Given the description of an element on the screen output the (x, y) to click on. 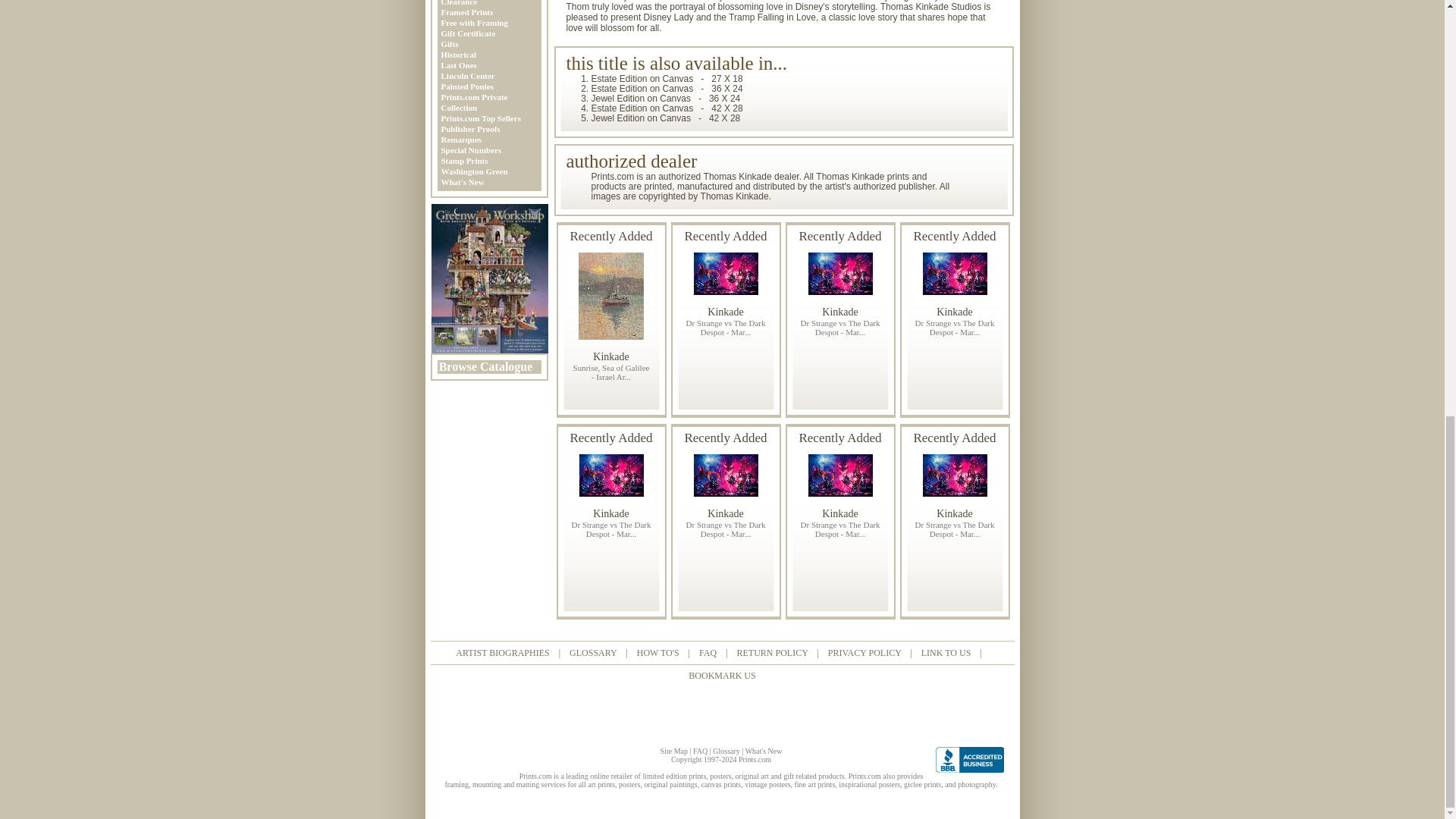
Click to verify BBB accreditation and to see a BBB report. (973, 759)
